Given the description of an element on the screen output the (x, y) to click on. 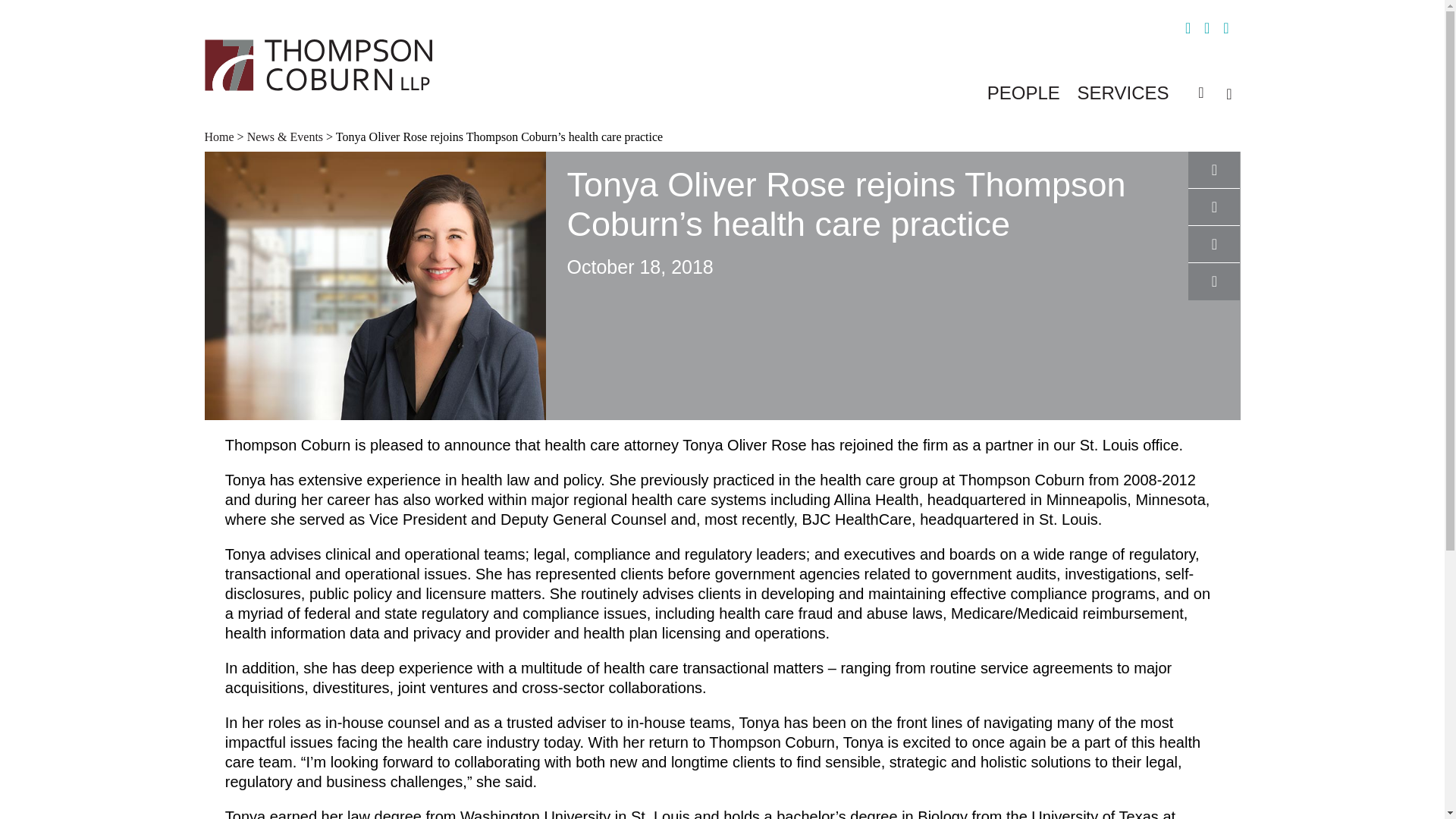
SERVICES (1123, 92)
PEOPLE (1023, 92)
Home (221, 136)
